Given the description of an element on the screen output the (x, y) to click on. 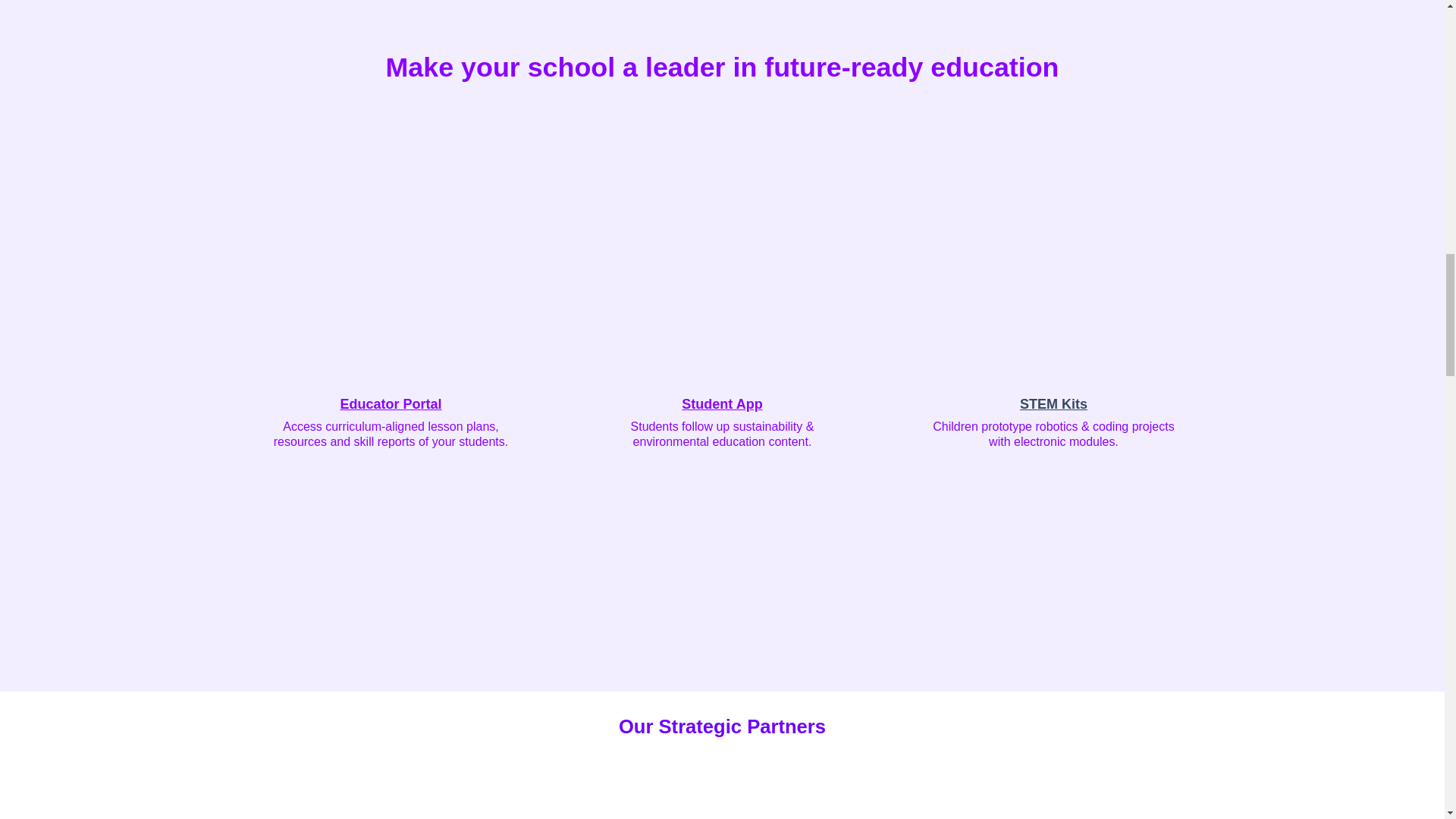
Educator Portal (390, 403)
STEM Kits (1053, 403)
Student App (721, 403)
